Given the description of an element on the screen output the (x, y) to click on. 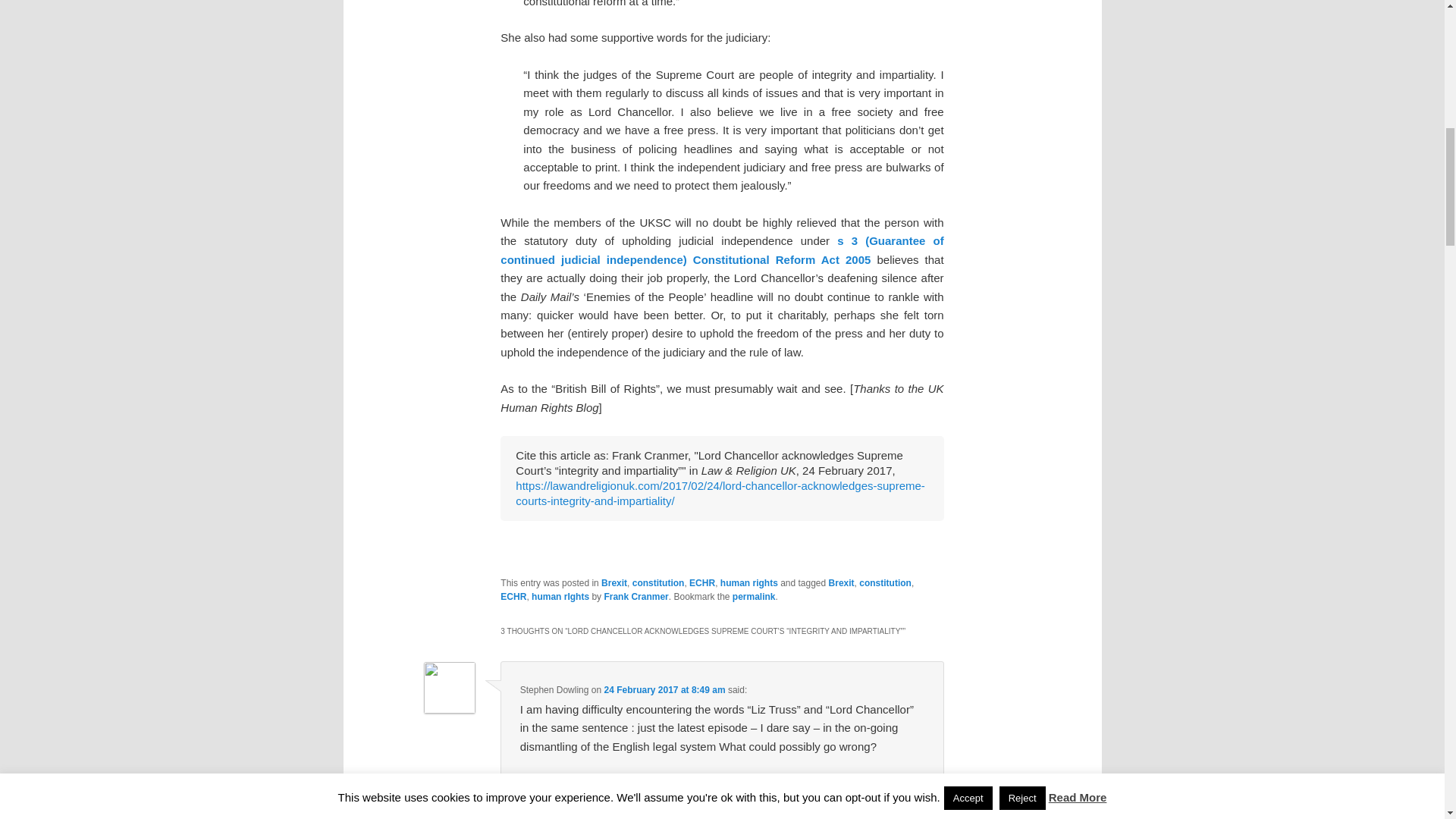
24 February 2017 at 8:49 am (664, 689)
constitution (885, 583)
human rIghts (560, 596)
Brexit (614, 583)
Frank Cranmer (636, 596)
ECHR (512, 596)
permalink (754, 596)
Brexit (841, 583)
ECHR (701, 583)
constitution (657, 583)
human rights (748, 583)
